Given the description of an element on the screen output the (x, y) to click on. 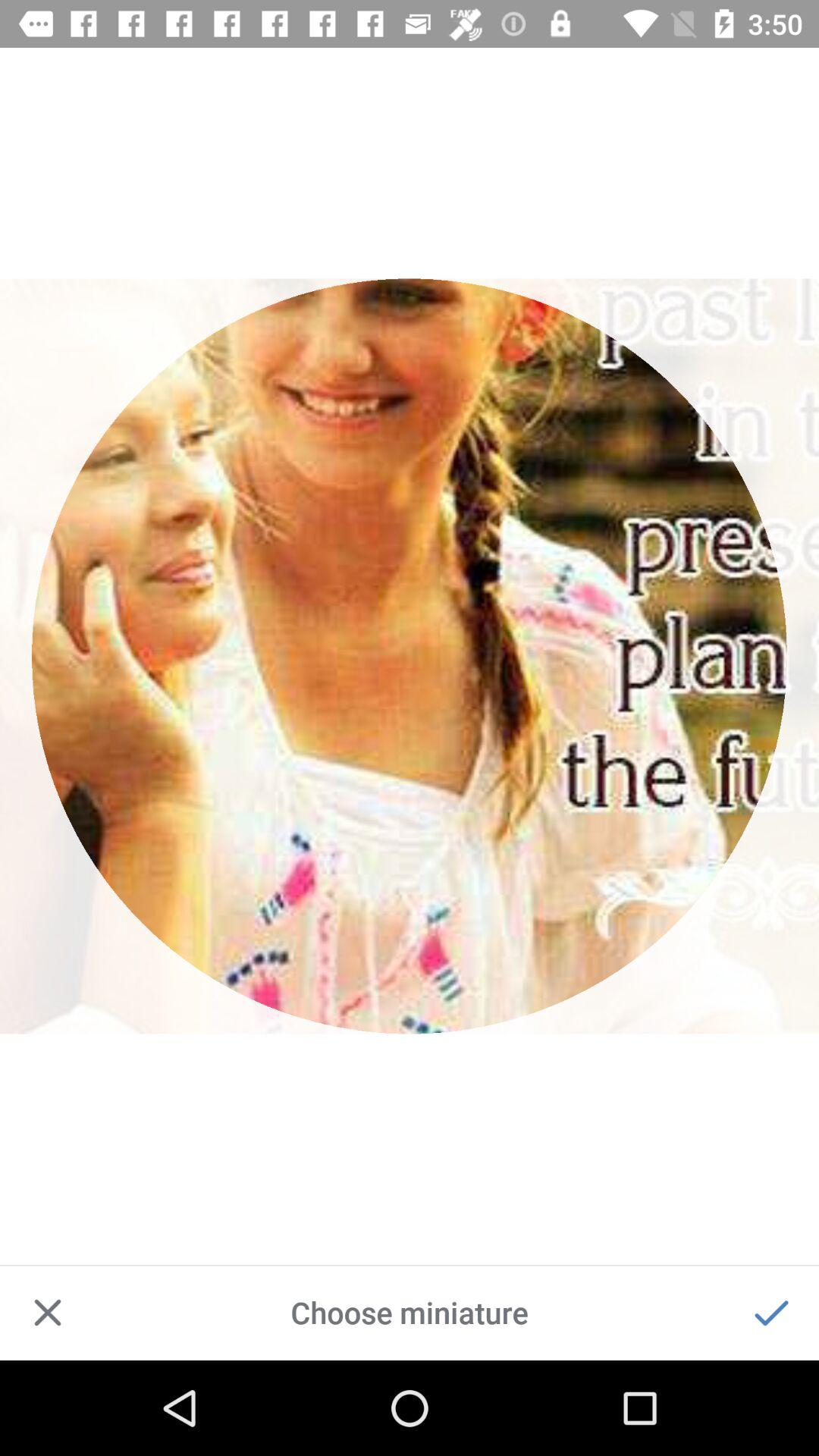
select item next to choose miniature icon (771, 1312)
